Given the description of an element on the screen output the (x, y) to click on. 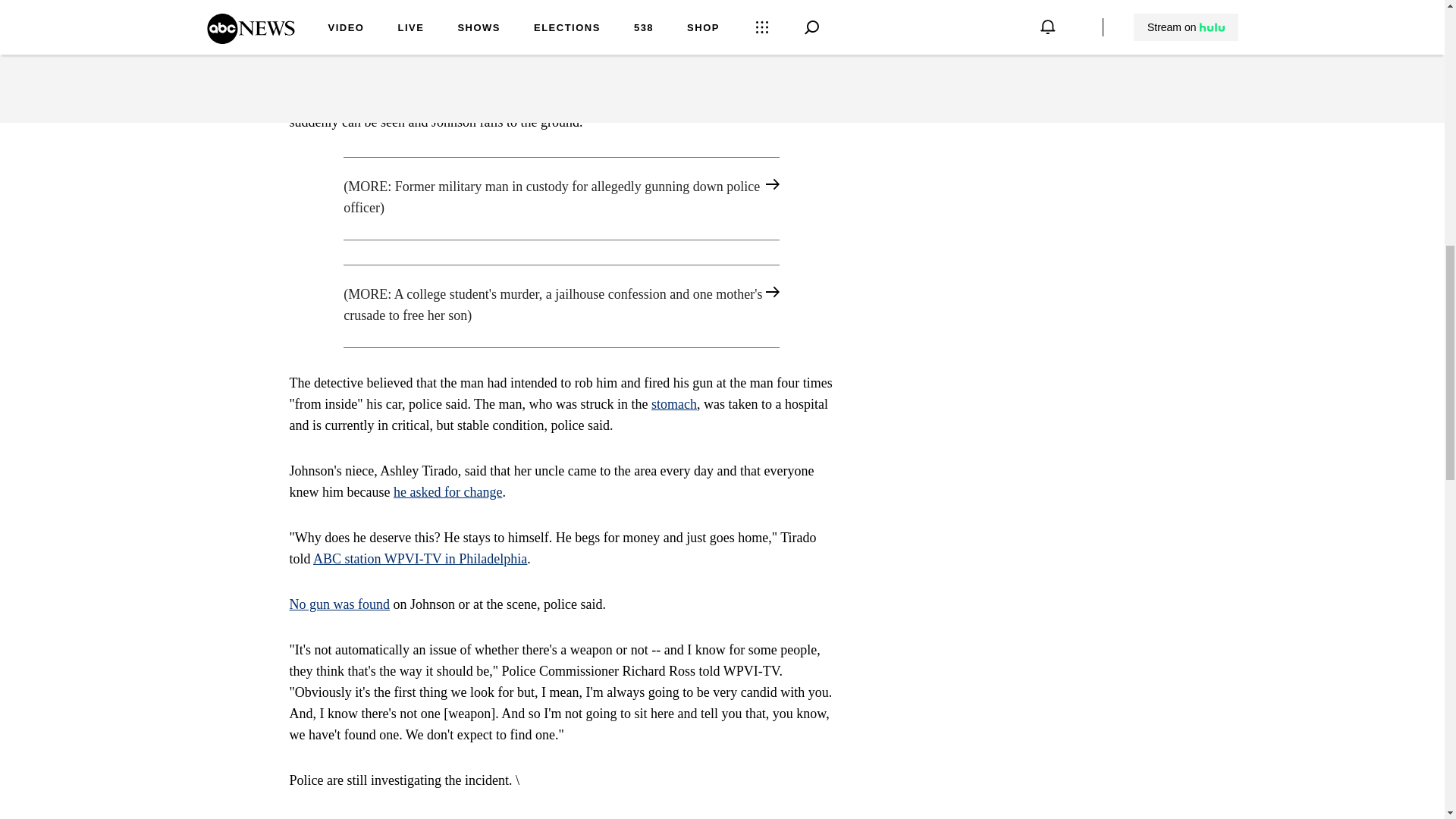
he asked for change (447, 491)
stomach (673, 403)
Surveillance video (340, 79)
ABC station WPVI-TV in Philadelphia (420, 558)
No gun was found (339, 604)
